Given the description of an element on the screen output the (x, y) to click on. 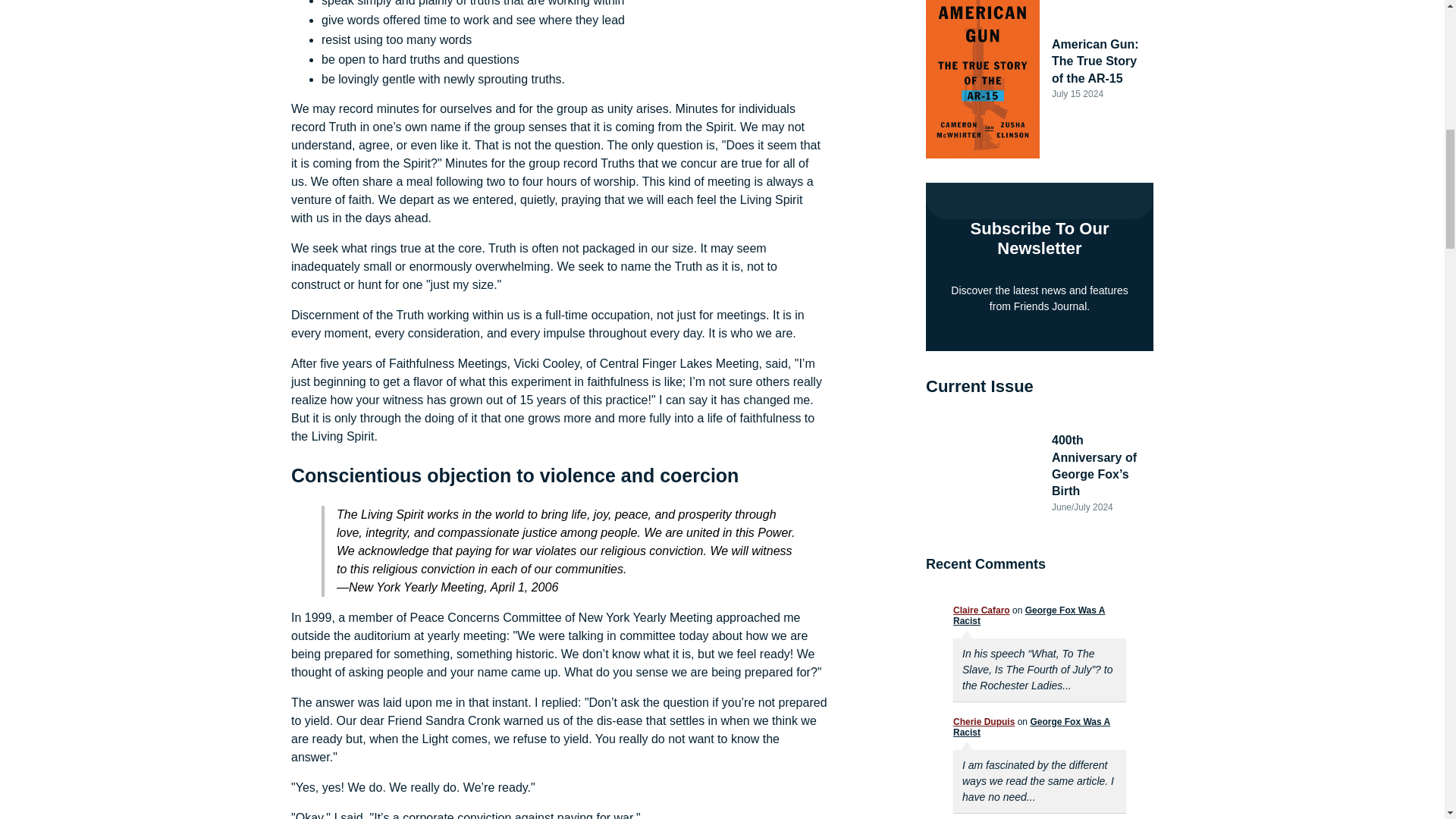
American Gun: The True Story of the AR-15 (1096, 61)
